Given the description of an element on the screen output the (x, y) to click on. 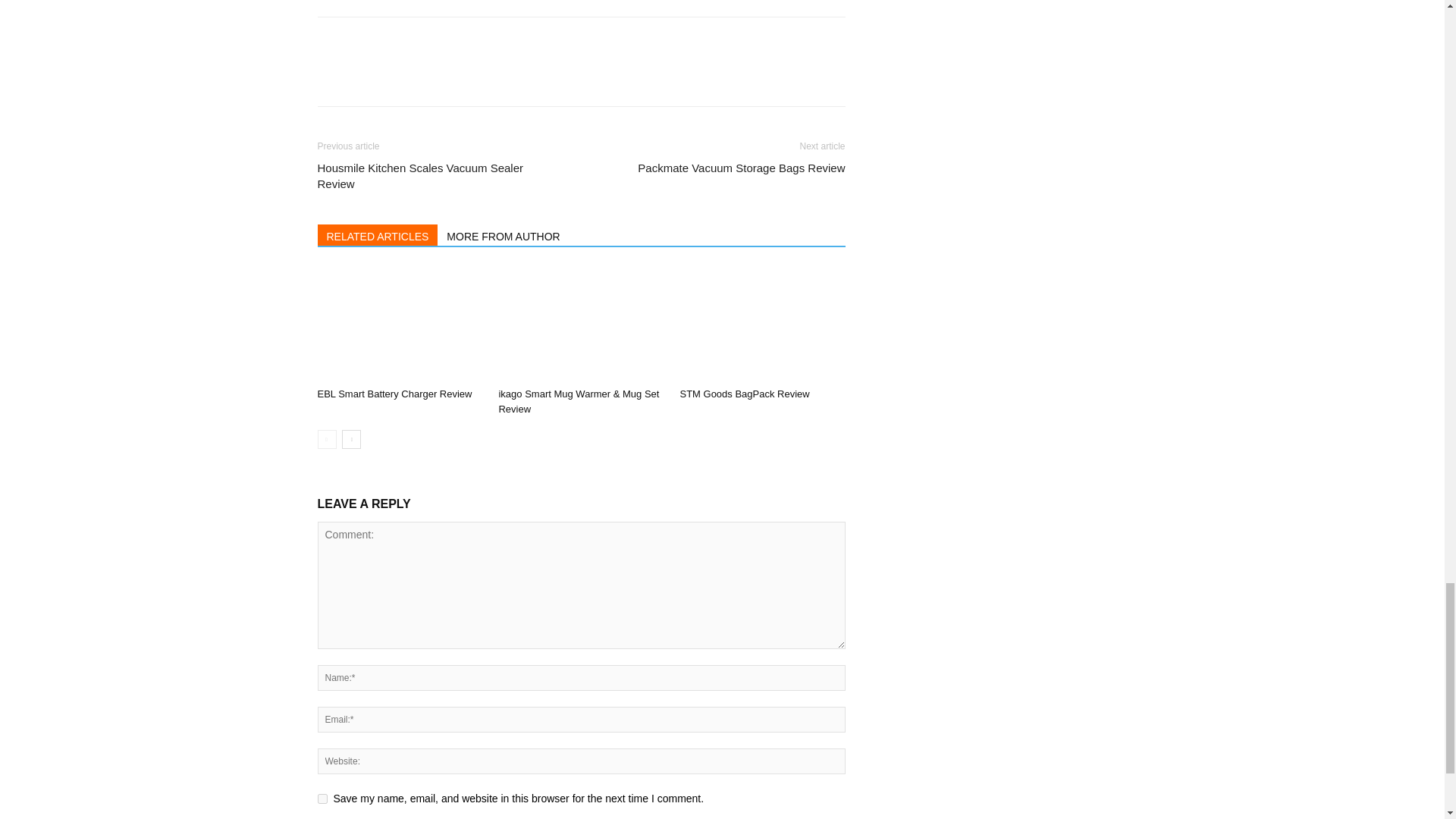
yes (321, 798)
